Given the description of an element on the screen output the (x, y) to click on. 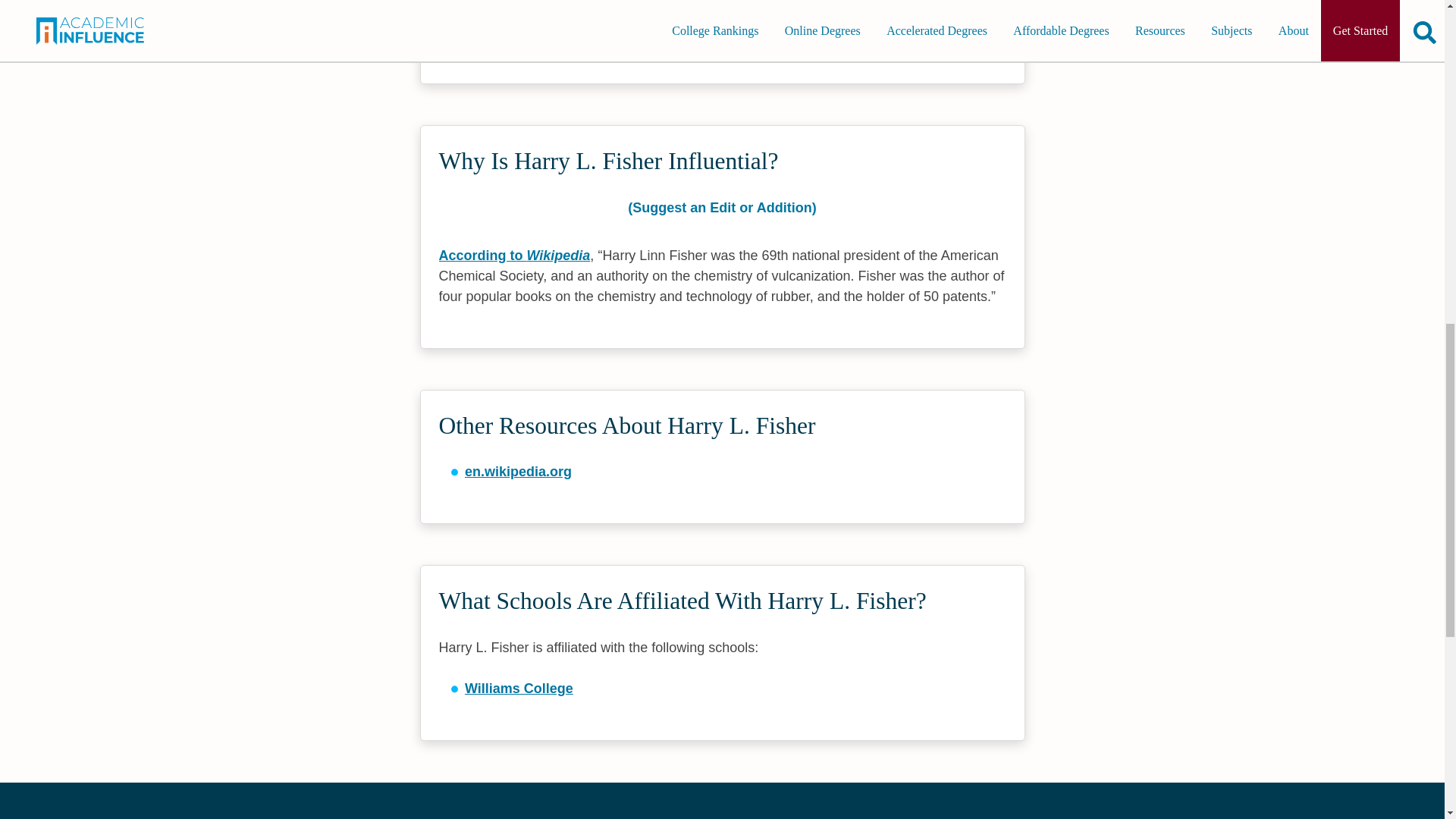
en.wikipedia.org (518, 471)
Williams College (518, 688)
According to Wikipedia (513, 255)
